Given the description of an element on the screen output the (x, y) to click on. 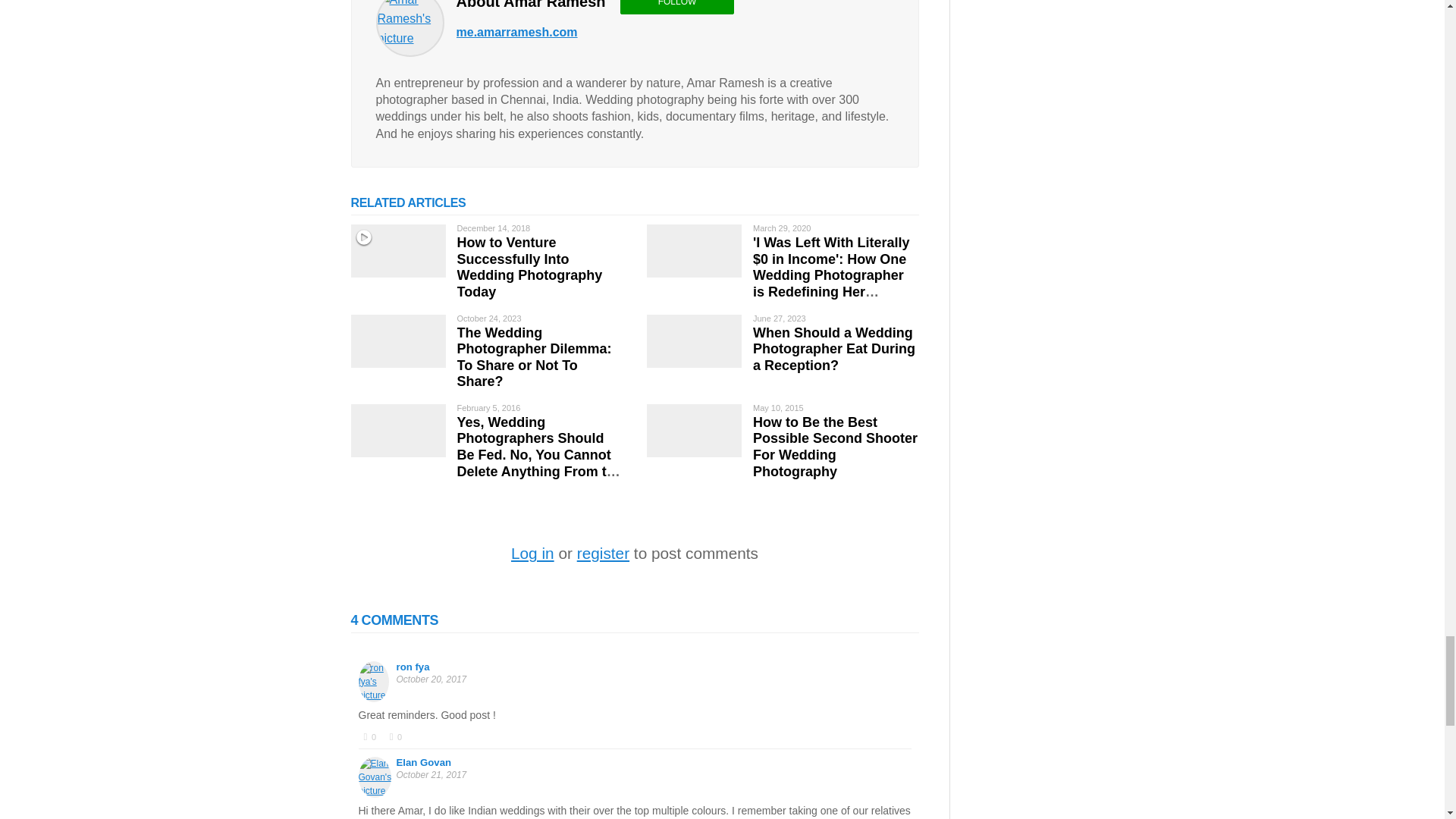
FOLLOW (676, 7)
me.amarramesh.com (517, 32)
